Given the description of an element on the screen output the (x, y) to click on. 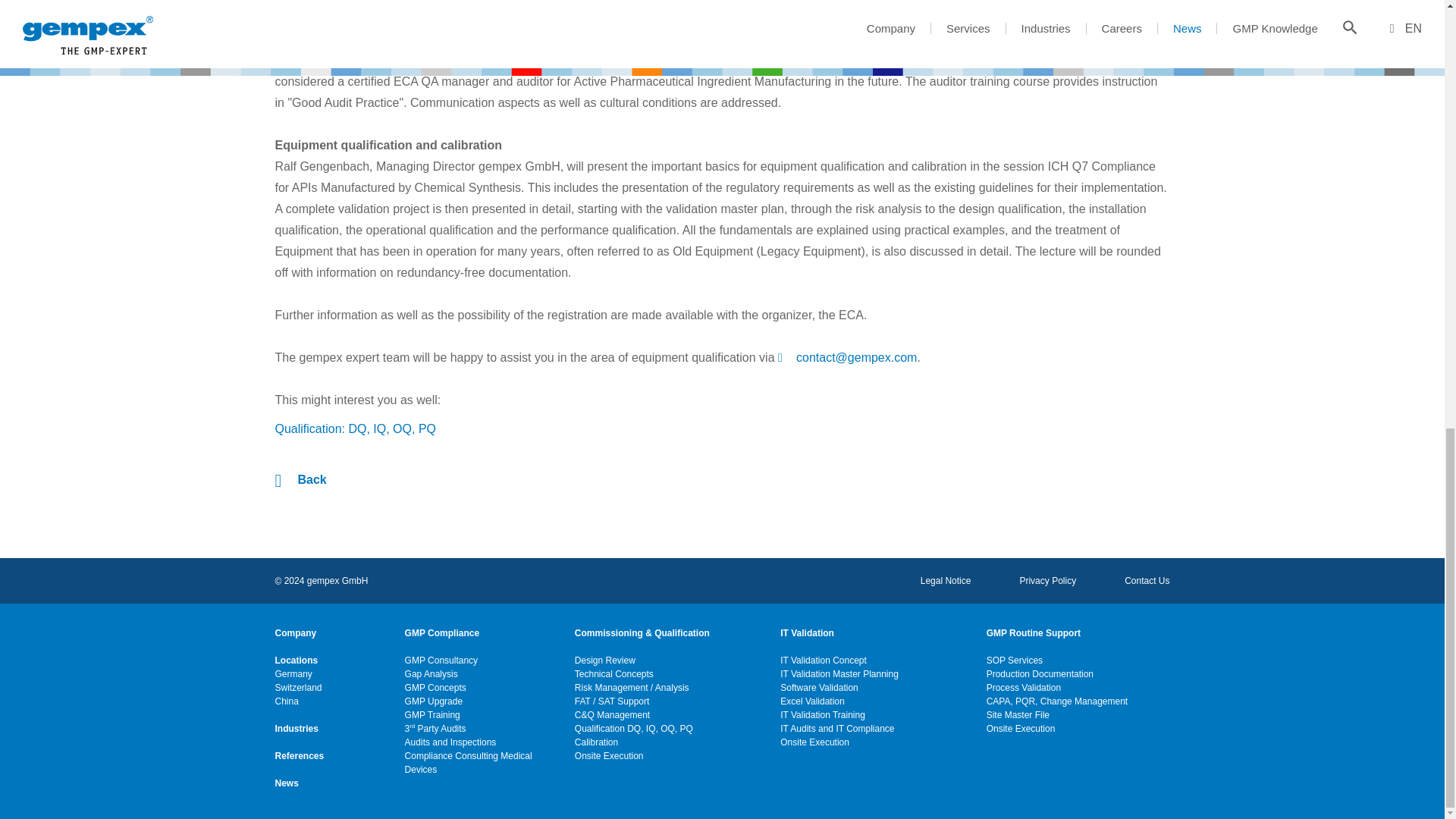
Switzerland (298, 687)
GMP Consultancy (441, 660)
Gap Analysis (431, 673)
Technical Concepts (614, 673)
Company (295, 632)
Audits and Inspections (450, 742)
Industries (296, 728)
China (286, 701)
GMP Training (432, 714)
Design Review (604, 660)
